Given the description of an element on the screen output the (x, y) to click on. 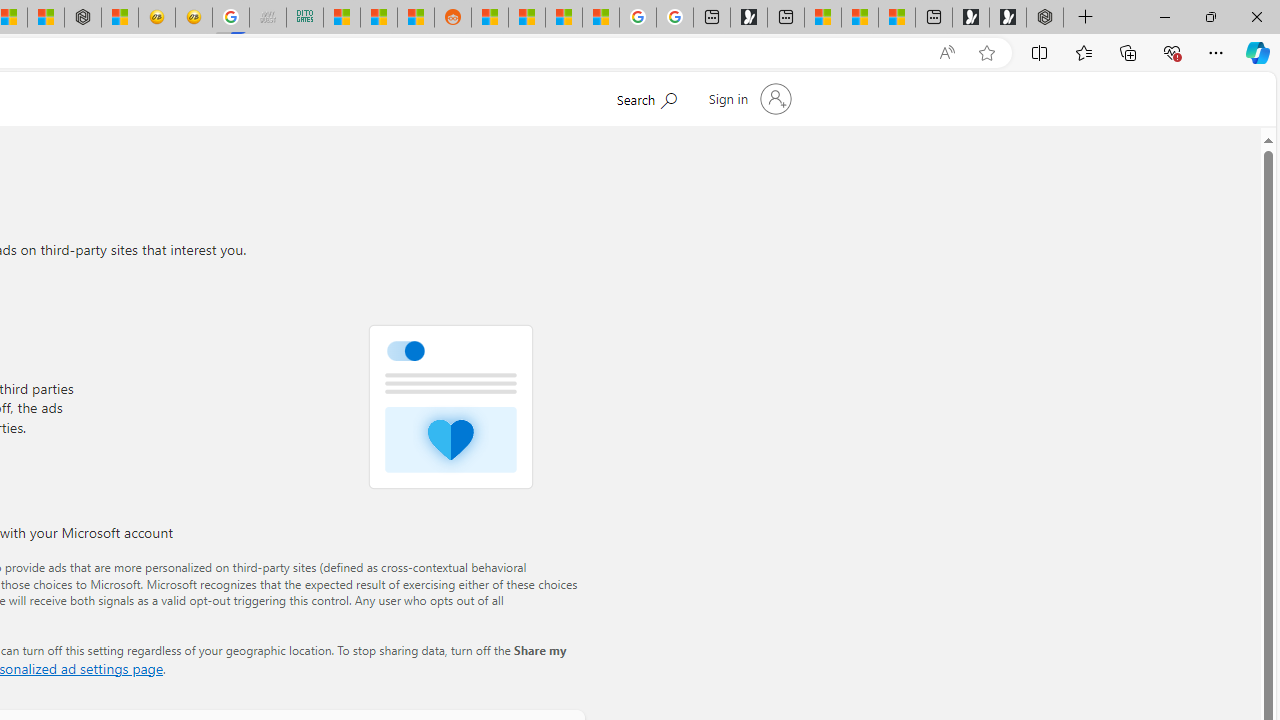
These 3 Stocks Pay You More Than 5% to Own Them (897, 17)
Search Microsoft.com (646, 97)
